Given the description of an element on the screen output the (x, y) to click on. 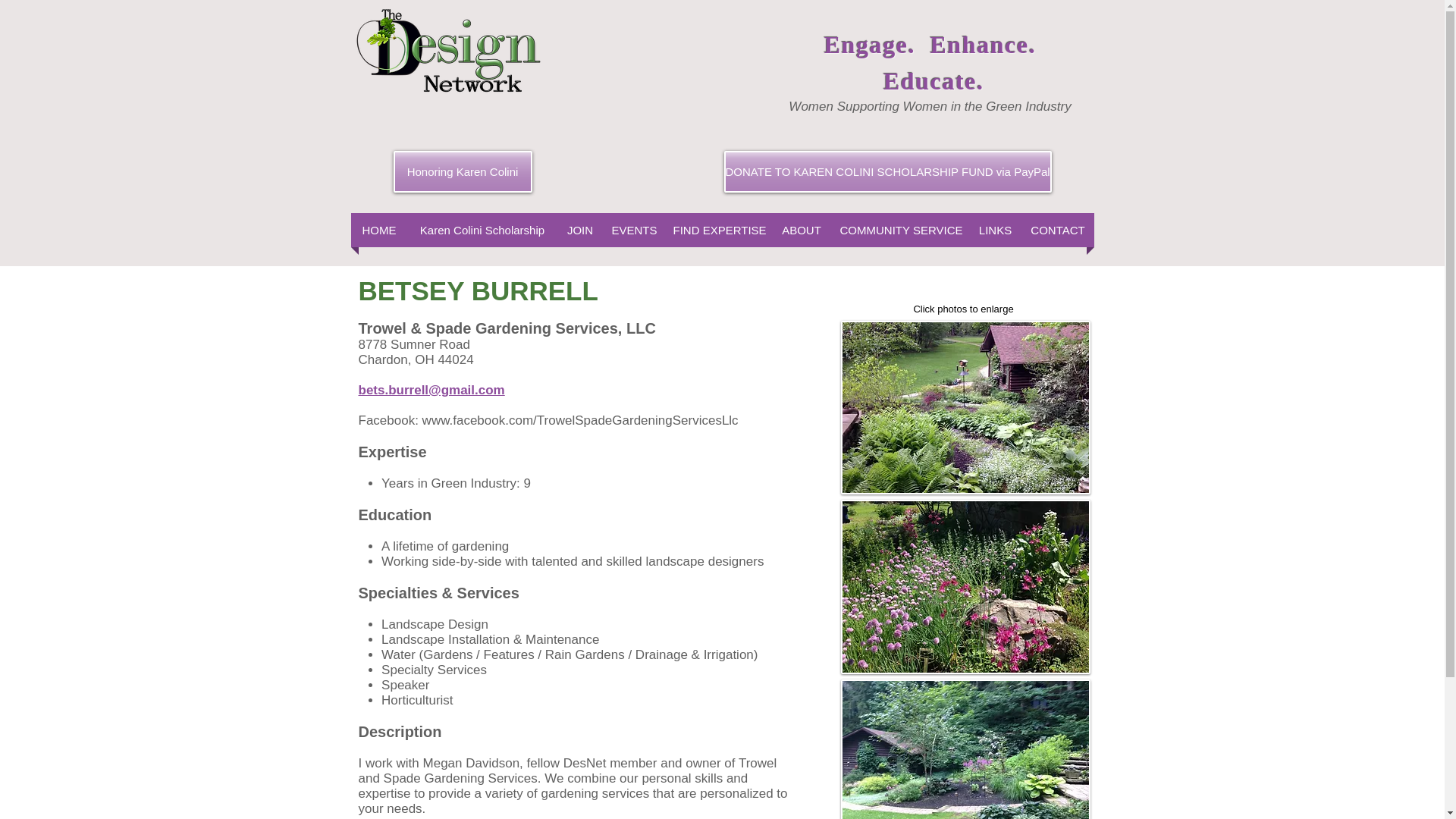
Karen Colini Scholarship (482, 229)
FIND EXPERTISE (718, 229)
DONATE TO KAREN COLINI SCHOLARSHIP FUND via PayPal (887, 171)
HOME (378, 229)
ABOUT (800, 229)
JOIN (579, 229)
Honoring Karen Colini (462, 171)
EVENTS (634, 229)
CONTACT (1058, 229)
COMMUNITY SERVICE (900, 229)
LINKS (995, 229)
